Given the description of an element on the screen output the (x, y) to click on. 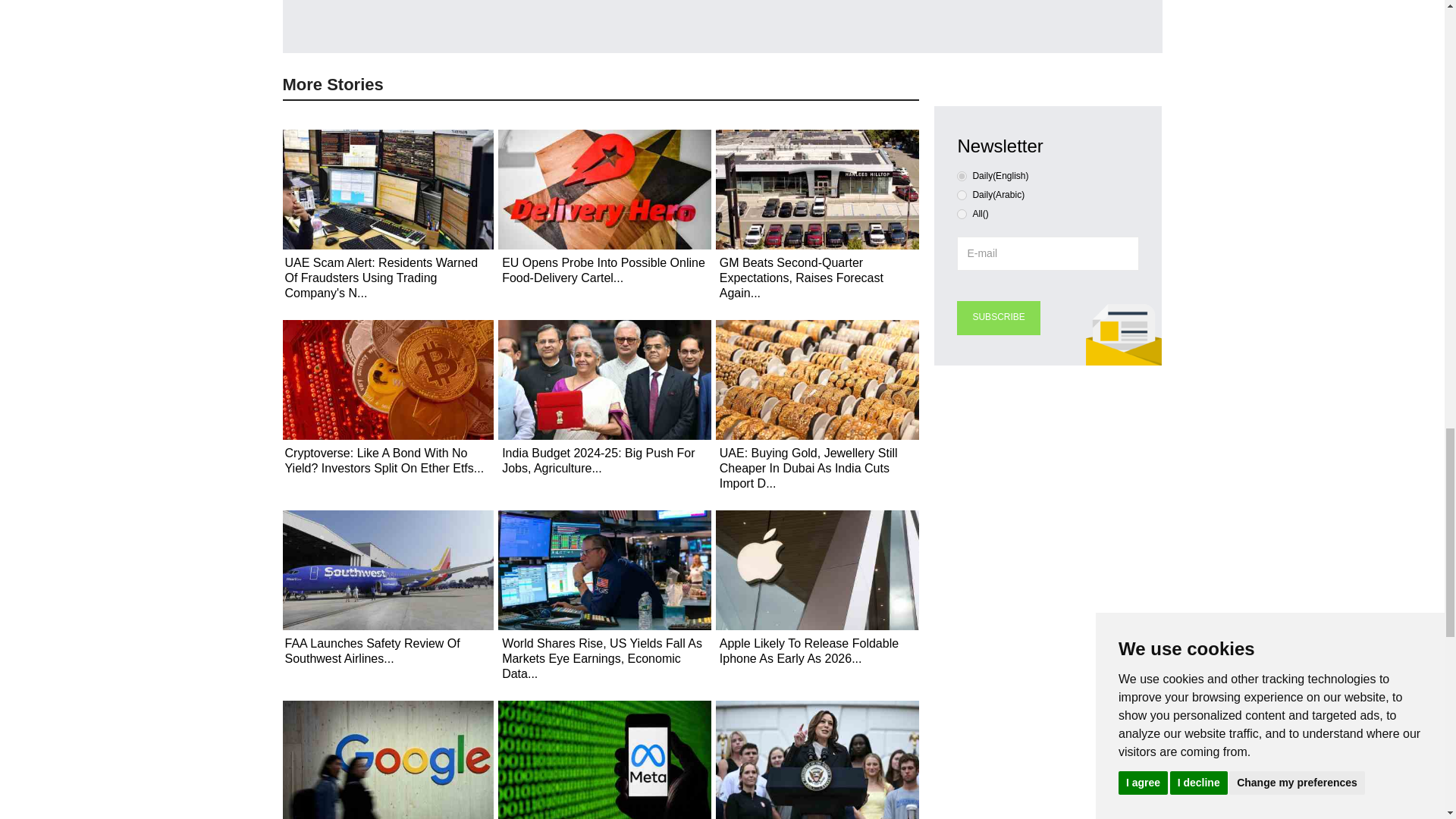
1 (961, 194)
Subscribe (997, 317)
0 (961, 175)
2 (961, 214)
